Given the description of an element on the screen output the (x, y) to click on. 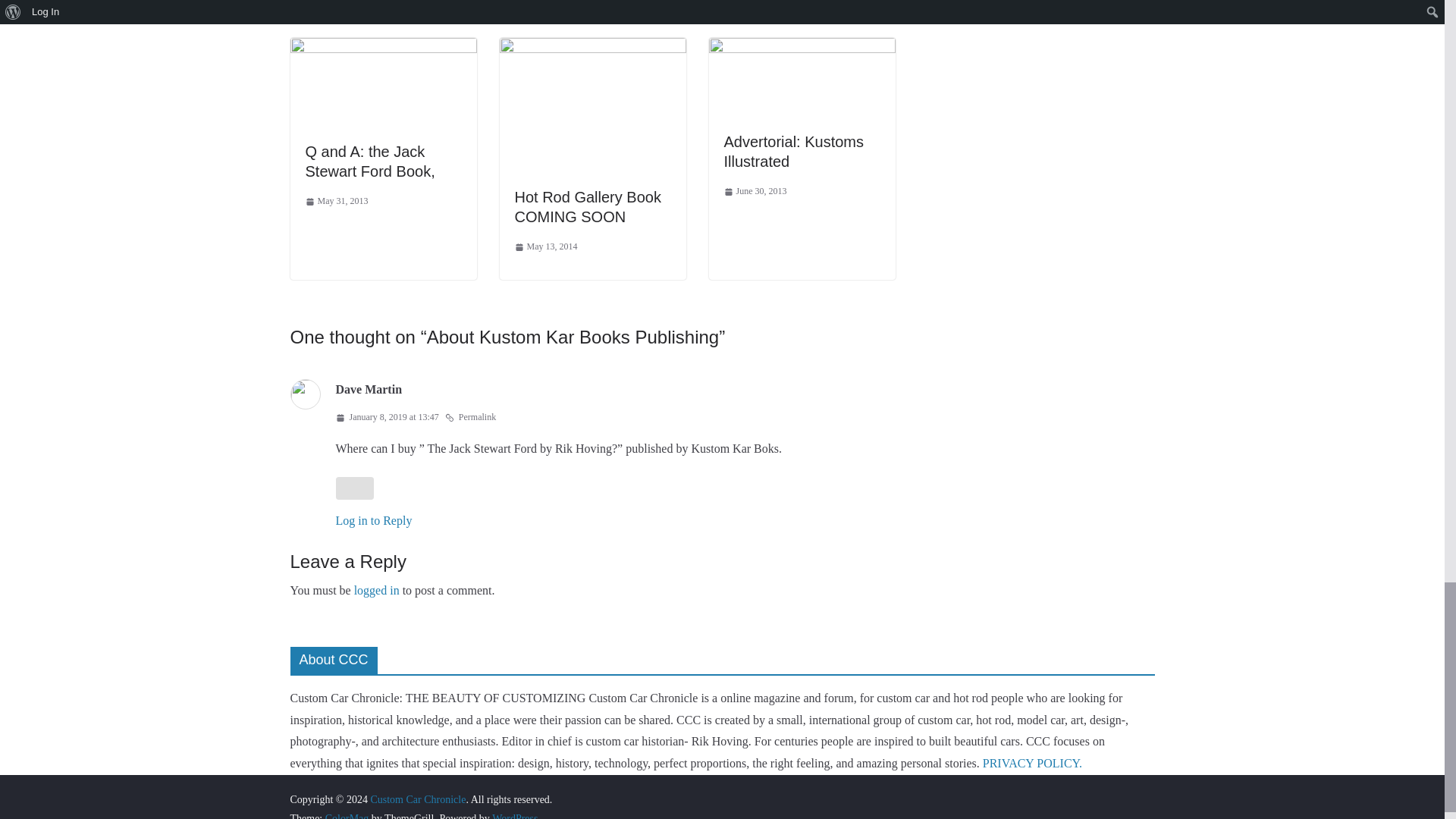
Q and A: the Jack Stewart Ford Book, (382, 47)
Hot Rod Gallery Book COMING SOON (592, 47)
Hot Rod Gallery Book COMING SOON (587, 207)
14:15 (336, 201)
Q and A: the Jack Stewart Ford Book, (368, 161)
